Given the description of an element on the screen output the (x, y) to click on. 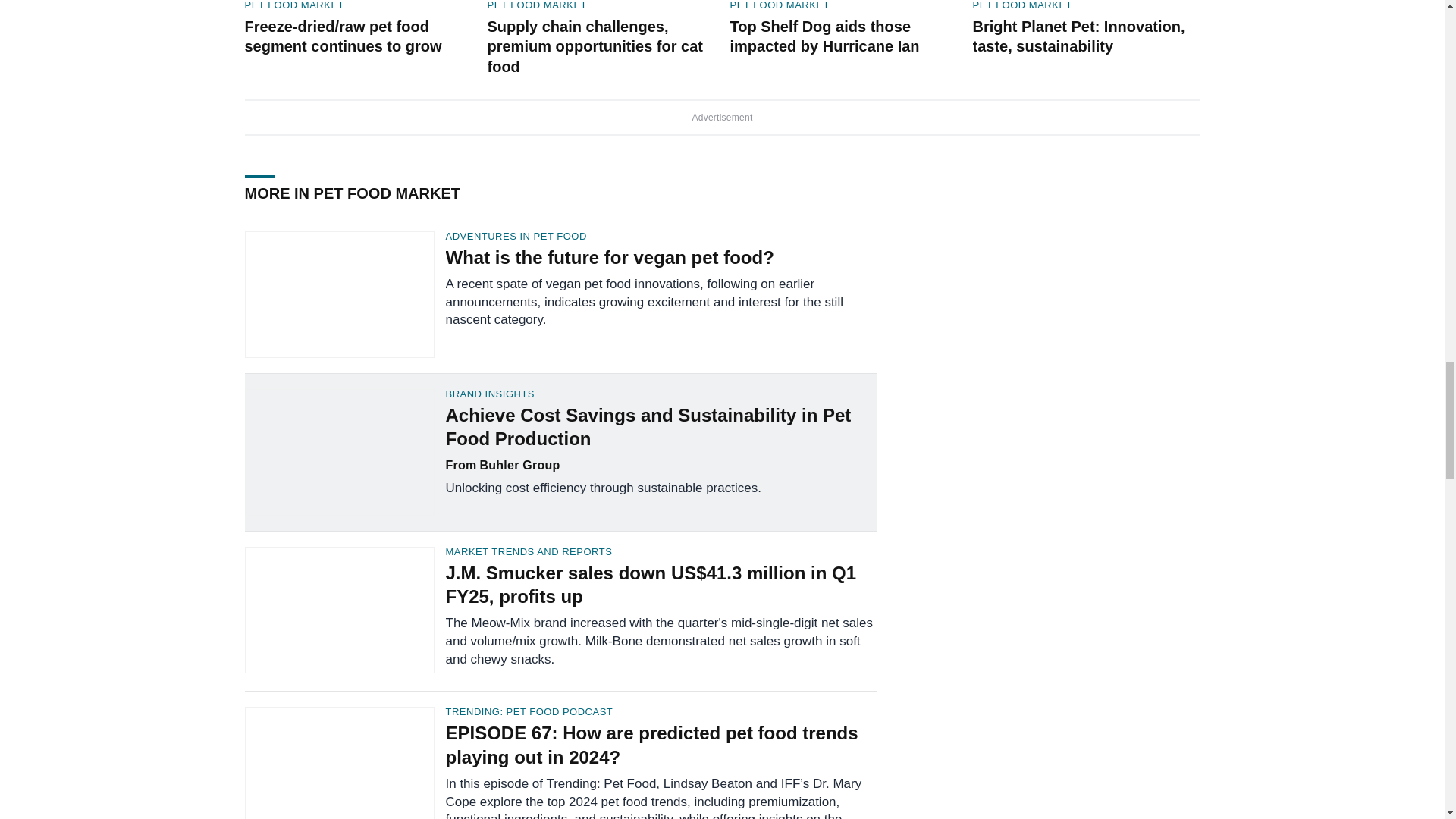
Pet Food Market (779, 6)
Pet Food Market (536, 6)
Pet Food Market (1021, 6)
Brand Insights (660, 393)
Pet Food Market (293, 6)
